Given the description of an element on the screen output the (x, y) to click on. 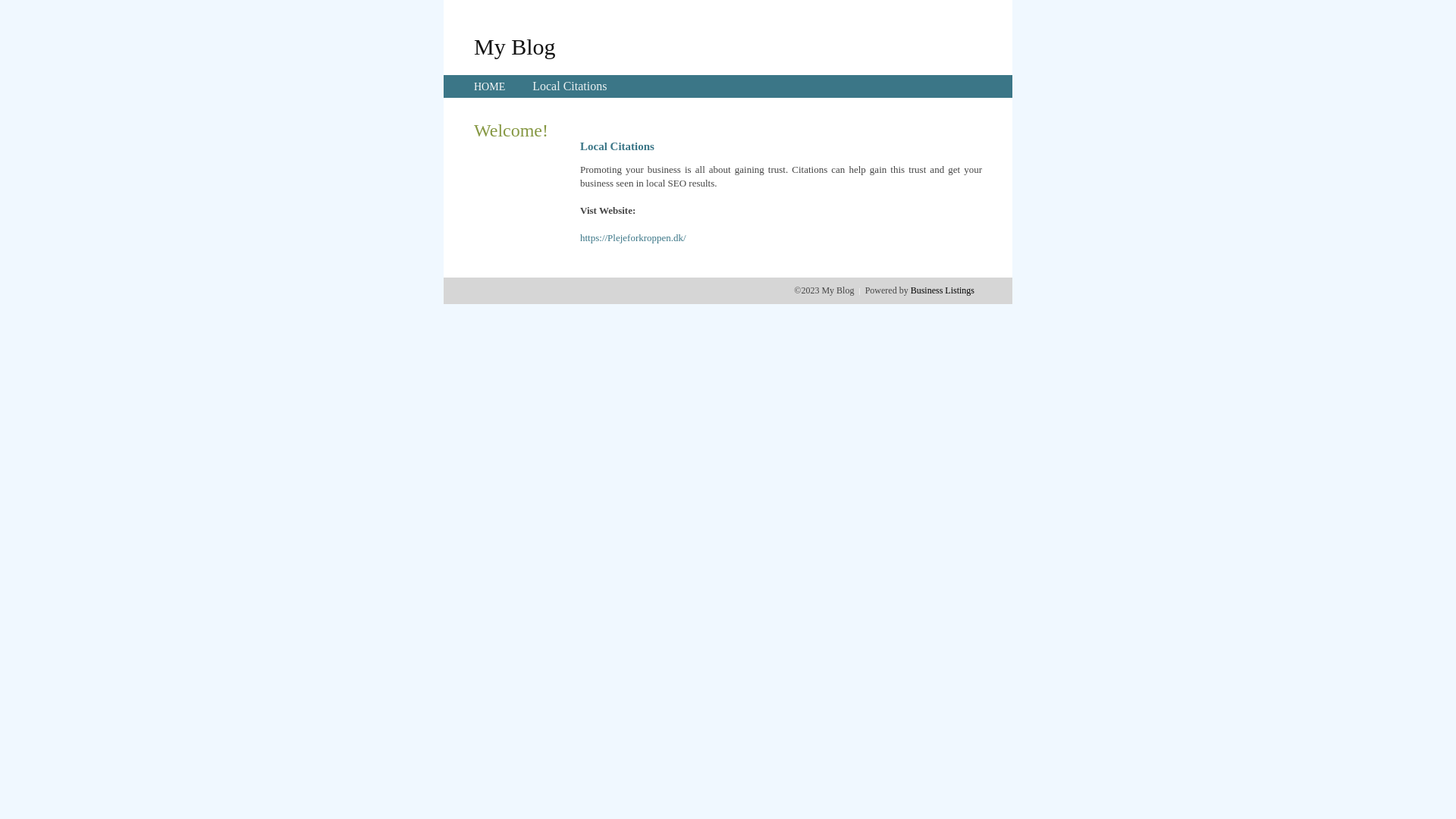
Local Citations Element type: text (569, 85)
HOME Element type: text (489, 86)
https://Plejeforkroppen.dk/ Element type: text (633, 237)
Business Listings Element type: text (942, 290)
My Blog Element type: text (514, 46)
